Given the description of an element on the screen output the (x, y) to click on. 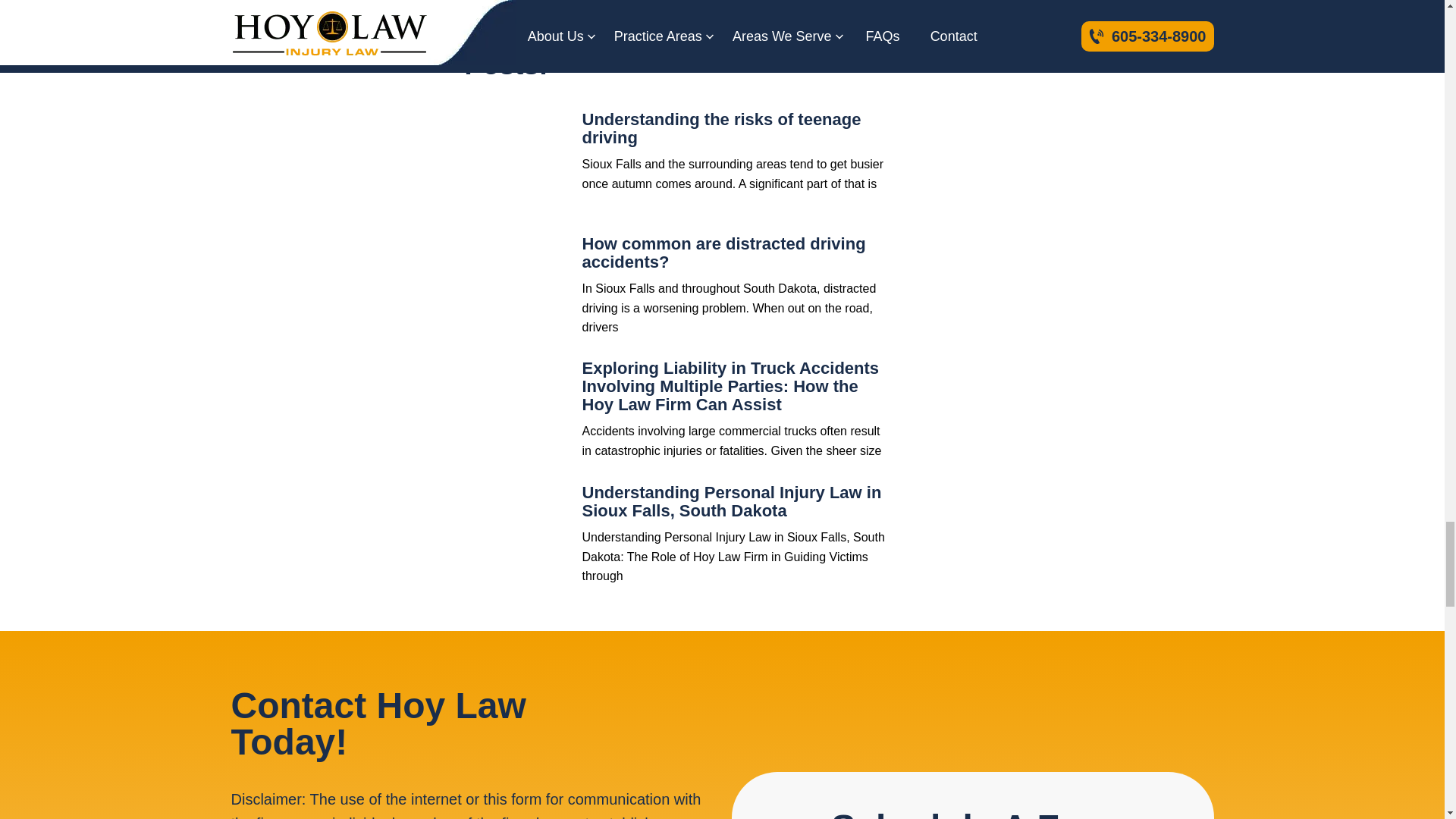
Understanding the risks of teenage driving (517, 163)
Understanding the risks of teenage driving (721, 128)
How common are distracted driving accidents? (724, 252)
How common are distracted driving accidents? (517, 288)
